Given the description of an element on the screen output the (x, y) to click on. 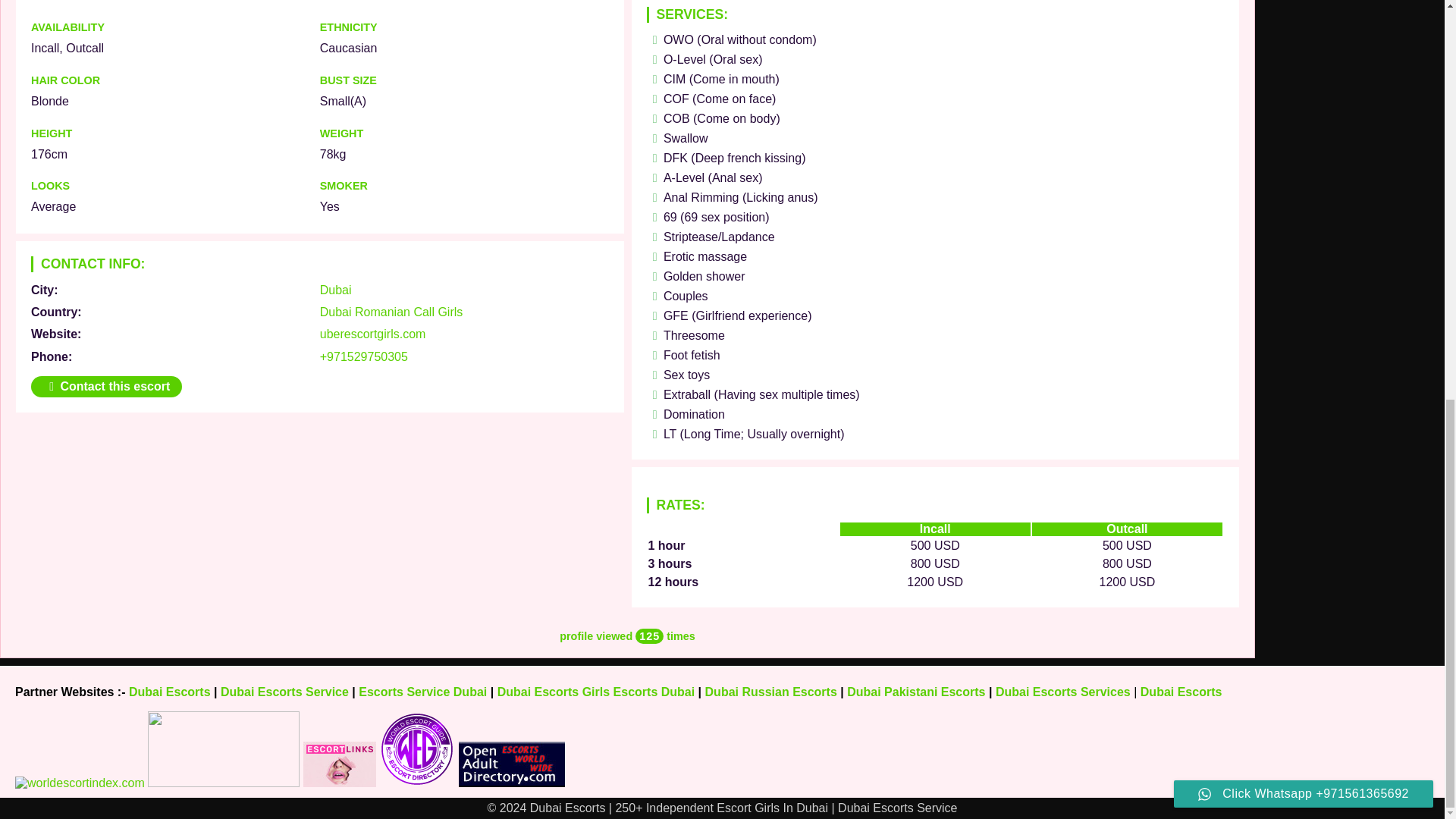
Dubai Romanian Call Girls (391, 311)
Dubai Escorts (170, 691)
Escorts Service Dubai (422, 691)
Dubai (336, 289)
Dubai (336, 289)
Dubai Pakistani Escorts (916, 691)
Dubai Escorts Girls (553, 691)
Escortdude.com (223, 782)
uberescortgirls.com (373, 333)
worldescortindex.com (79, 782)
Escort services in UAE (338, 782)
Escorts Dubai (653, 691)
Dubai Escorts Services (1063, 691)
Dubai Escorts (1181, 691)
Dubai Romanian Call Girls (391, 311)
